Given the description of an element on the screen output the (x, y) to click on. 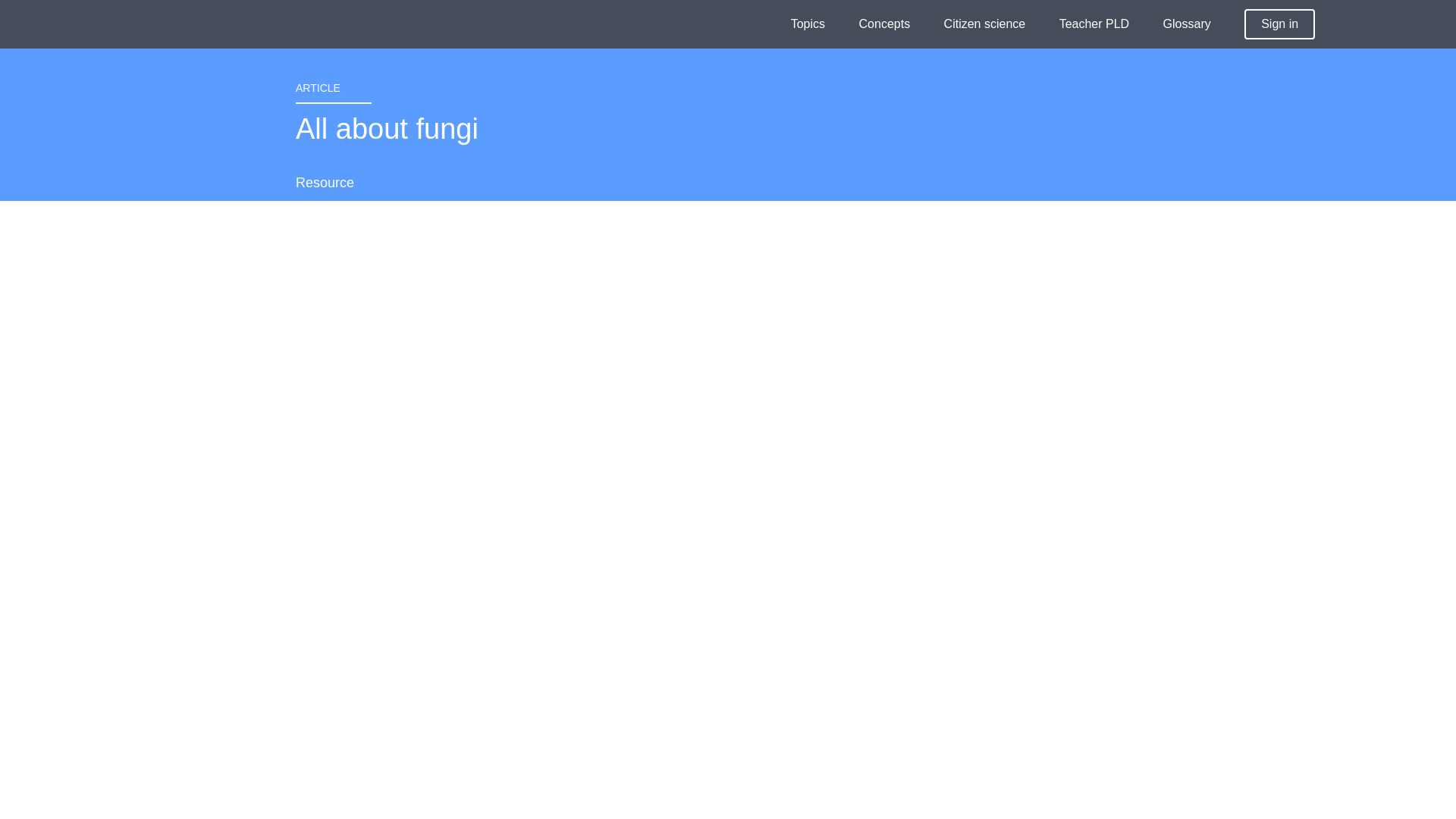
Important science ideas (885, 24)
Science terms and definitions (1187, 24)
Teacher PLD (1094, 24)
Popular themes used to plan science teaching (807, 24)
Glossary (1187, 24)
Webinars, planning ideas and education research (1094, 24)
Search our resources (1402, 26)
Topics (807, 24)
Citizen science projects with curriculum links (984, 24)
Citizen science (984, 24)
Concepts (885, 24)
Sign in (1279, 24)
